Given the description of an element on the screen output the (x, y) to click on. 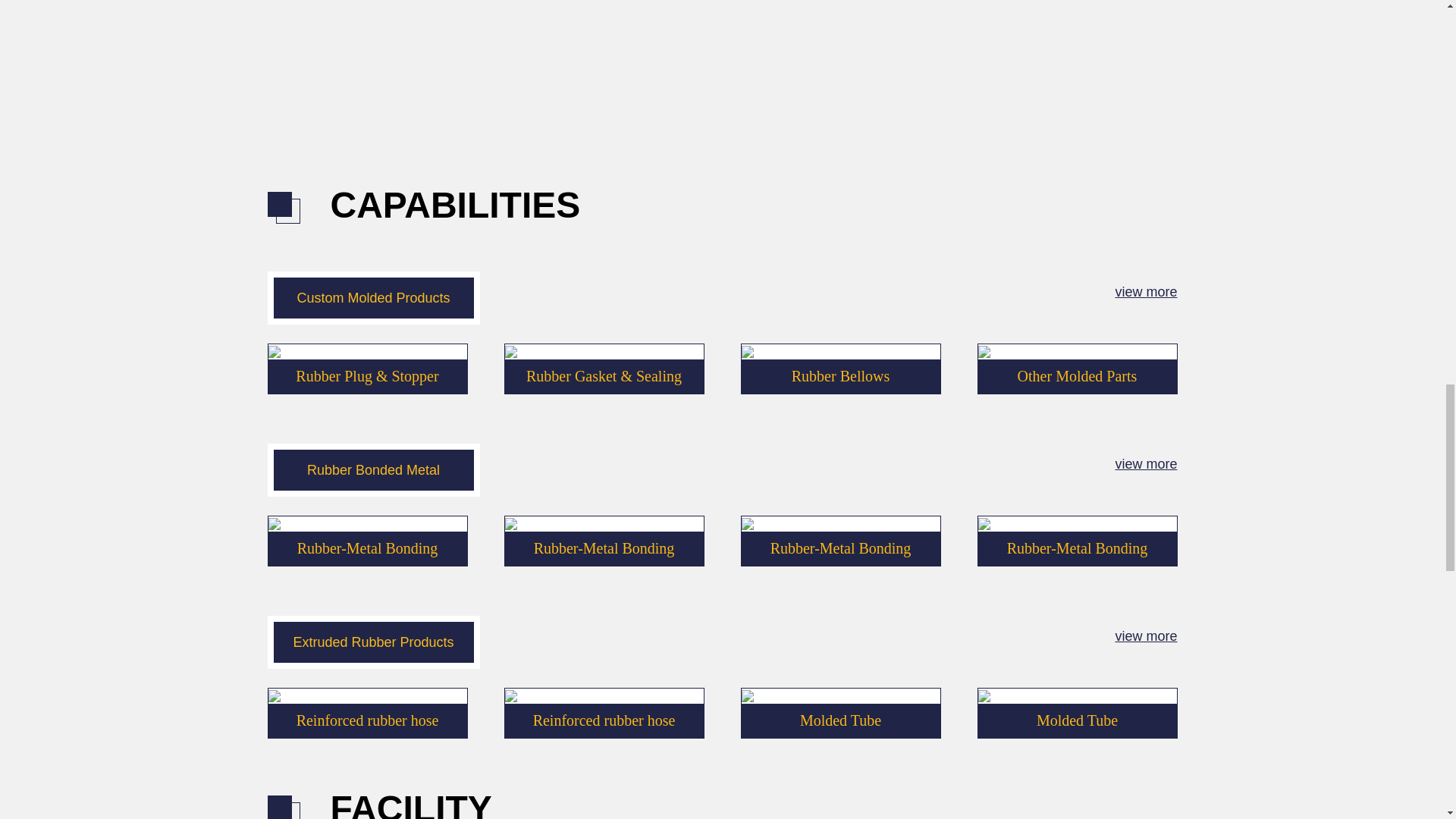
view more (1145, 463)
Rubber-Metal Bonding (367, 548)
Rubber-Metal Bonding (840, 548)
Rubber-Metal Bonding (604, 548)
Other Molded Parts (1077, 376)
view more (1145, 291)
Rubber Bellows (840, 376)
